Given the description of an element on the screen output the (x, y) to click on. 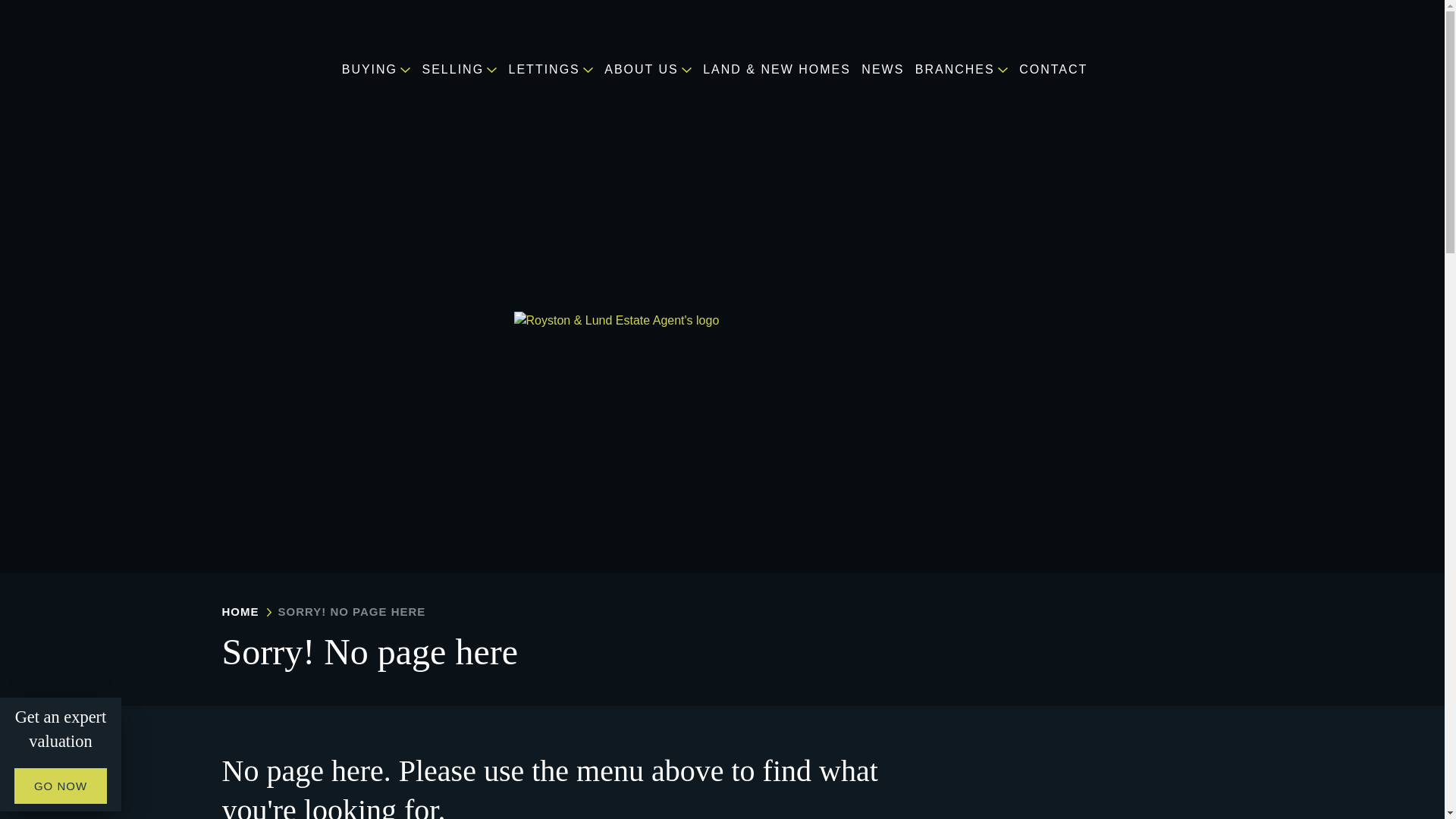
BRANCHES (965, 69)
NEWS (886, 69)
CONTACT (1060, 69)
BUYING (380, 69)
SORRY! NO PAGE HERE (351, 611)
HOME (240, 611)
LETTINGS (554, 69)
SELLING (463, 69)
ABOUT US (652, 69)
